Given the description of an element on the screen output the (x, y) to click on. 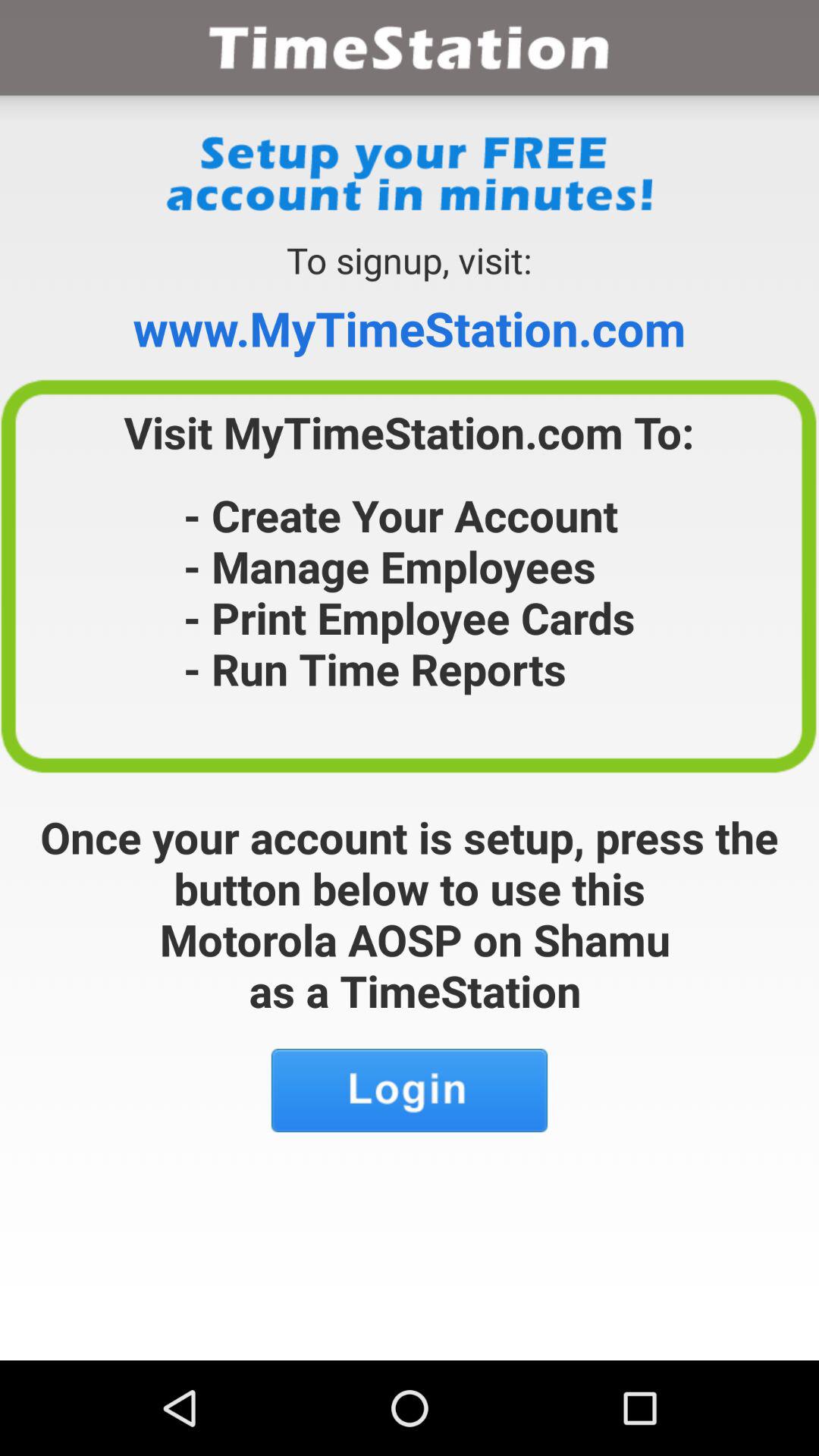
tap the item at the bottom (409, 1090)
